Given the description of an element on the screen output the (x, y) to click on. 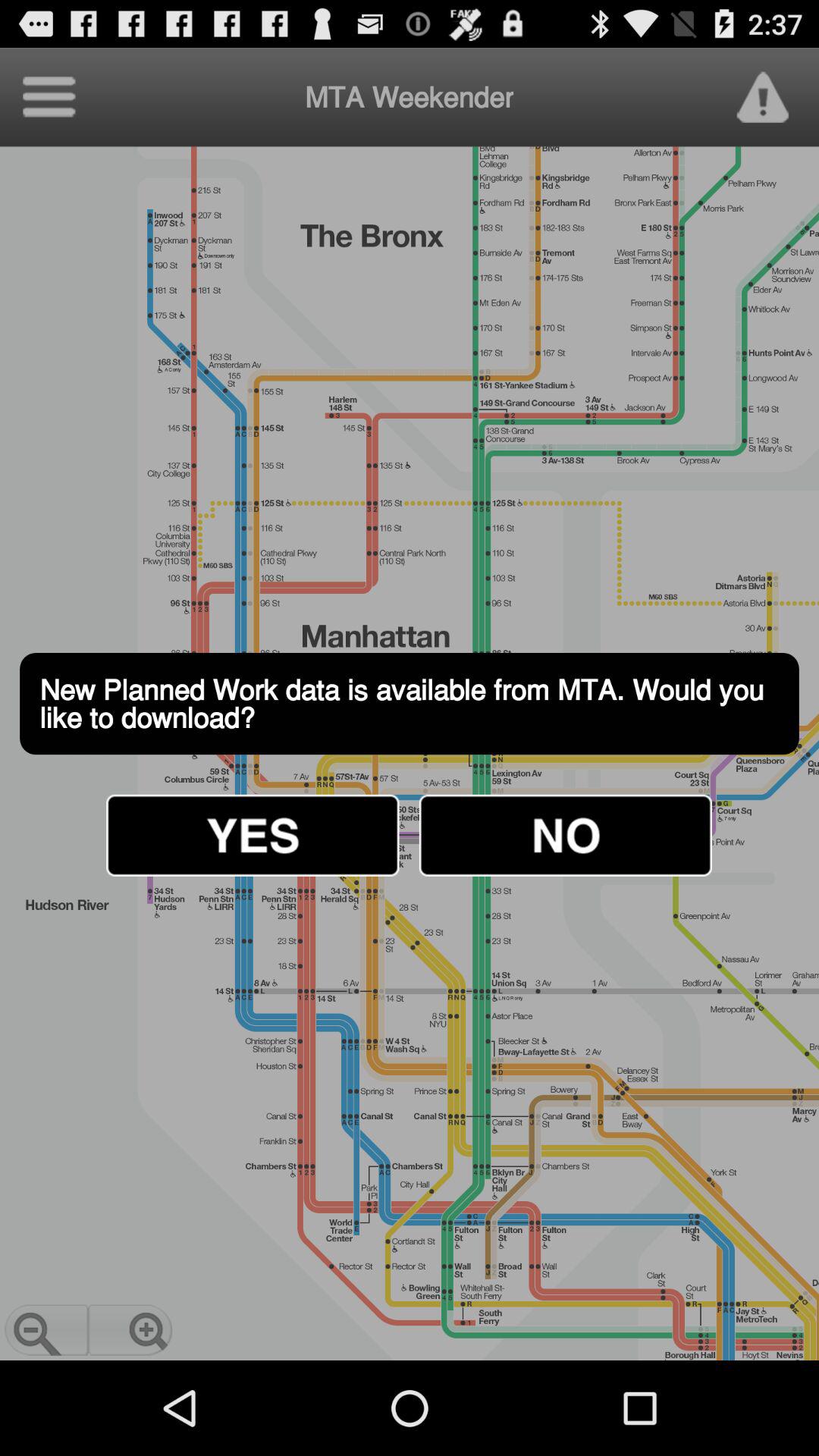
click app below the new planned work icon (565, 835)
